Given the description of an element on the screen output the (x, y) to click on. 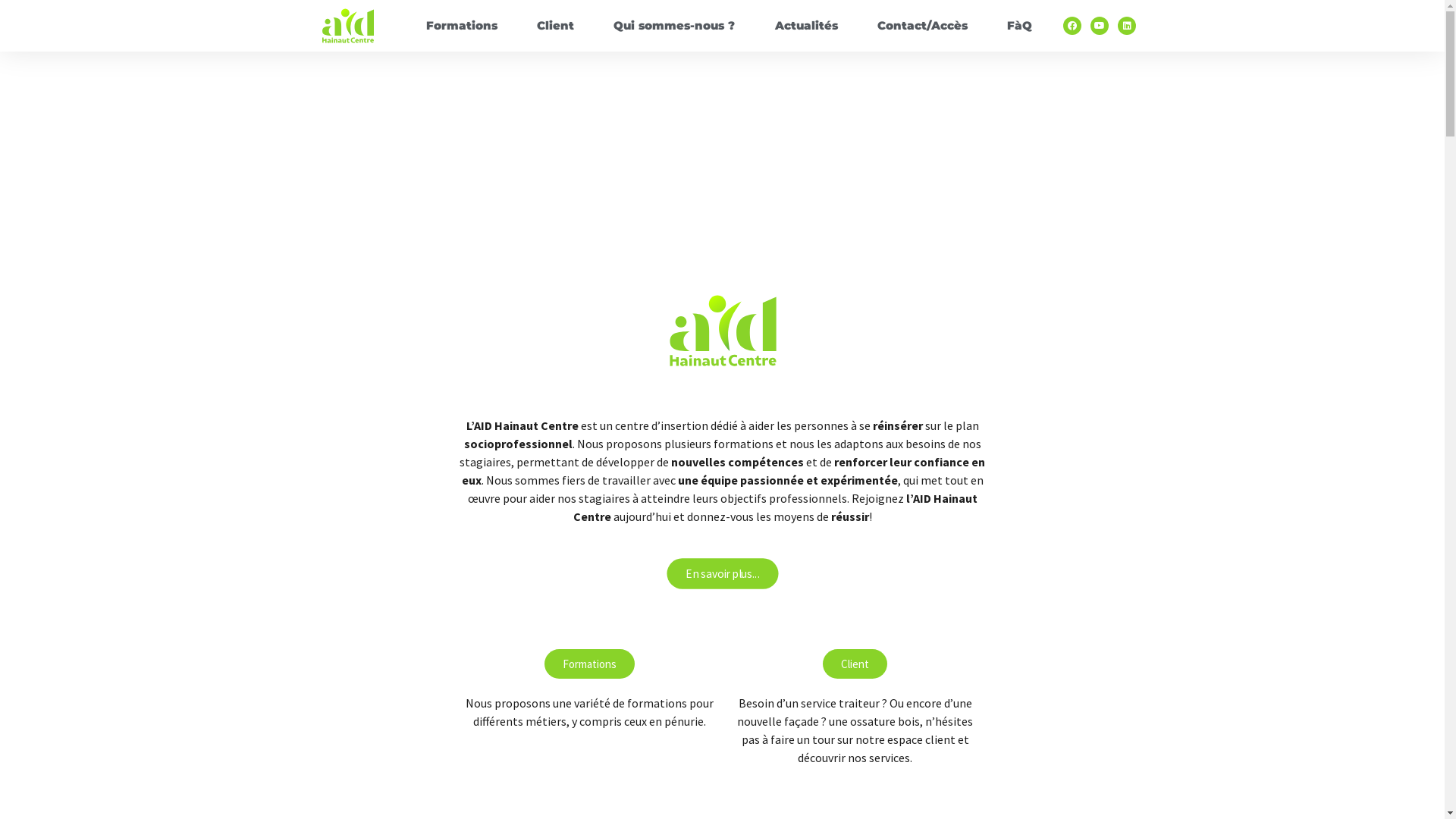
Formations Element type: text (460, 25)
En savoir plus... Element type: text (720, 572)
Client Element type: text (854, 663)
Client Element type: text (555, 25)
Qui sommes-nous ? Element type: text (673, 25)
Formations Element type: text (589, 663)
